Given the description of an element on the screen output the (x, y) to click on. 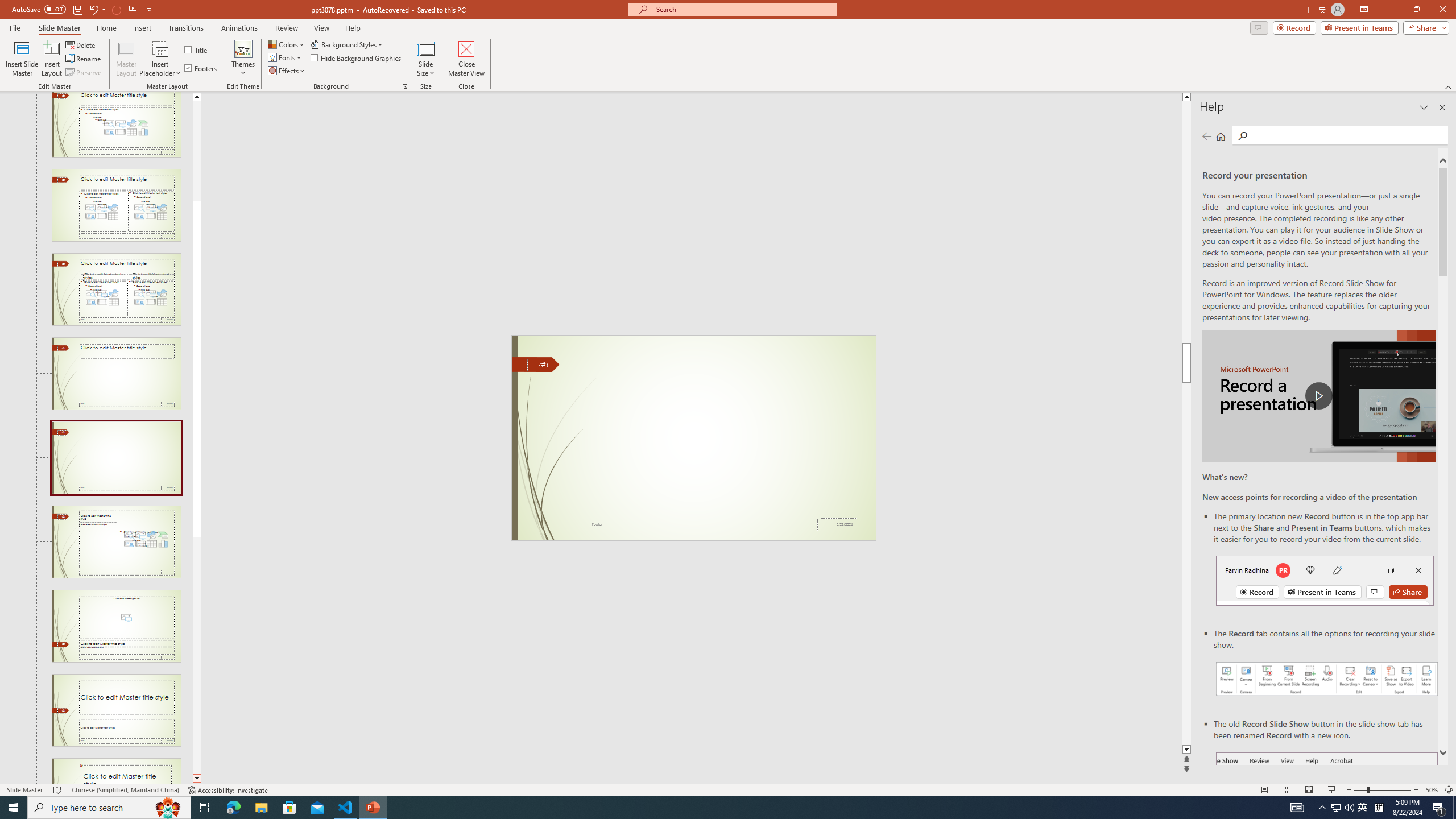
System (6, 6)
Colors (287, 44)
Zoom 50% (1431, 790)
Date (839, 524)
Close Master View (466, 58)
Themes (243, 58)
Record button in top bar (1324, 580)
Delete (81, 44)
Line up (197, 96)
Insert (142, 28)
Page up (197, 150)
Slide Size (425, 58)
play Record a Presentation (1318, 395)
Save (77, 9)
